Given the description of an element on the screen output the (x, y) to click on. 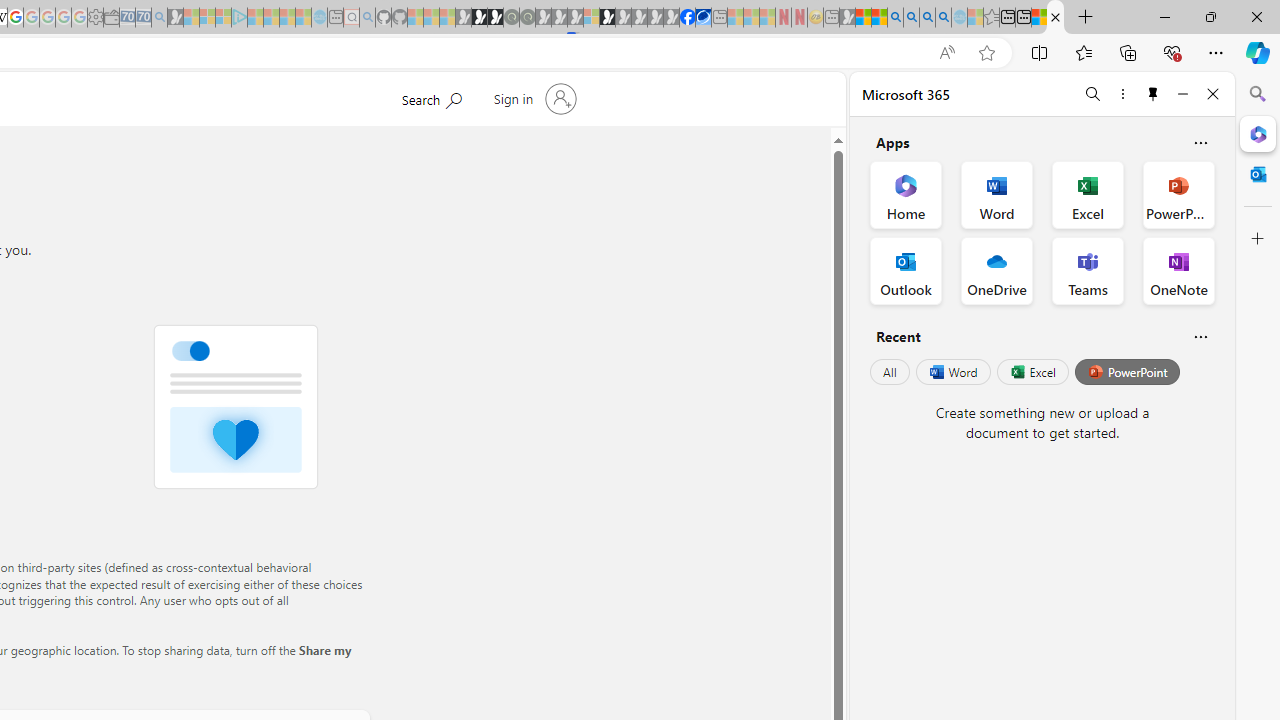
Close Customize pane (1258, 239)
Bing Real Estate - Home sales and rental listings - Sleeping (159, 17)
Is this helpful? (1200, 336)
Favorites - Sleeping (991, 17)
Google Chrome Internet Browser Download - Search Images (943, 17)
Close Microsoft 365 pane (1258, 133)
